Given the description of an element on the screen output the (x, y) to click on. 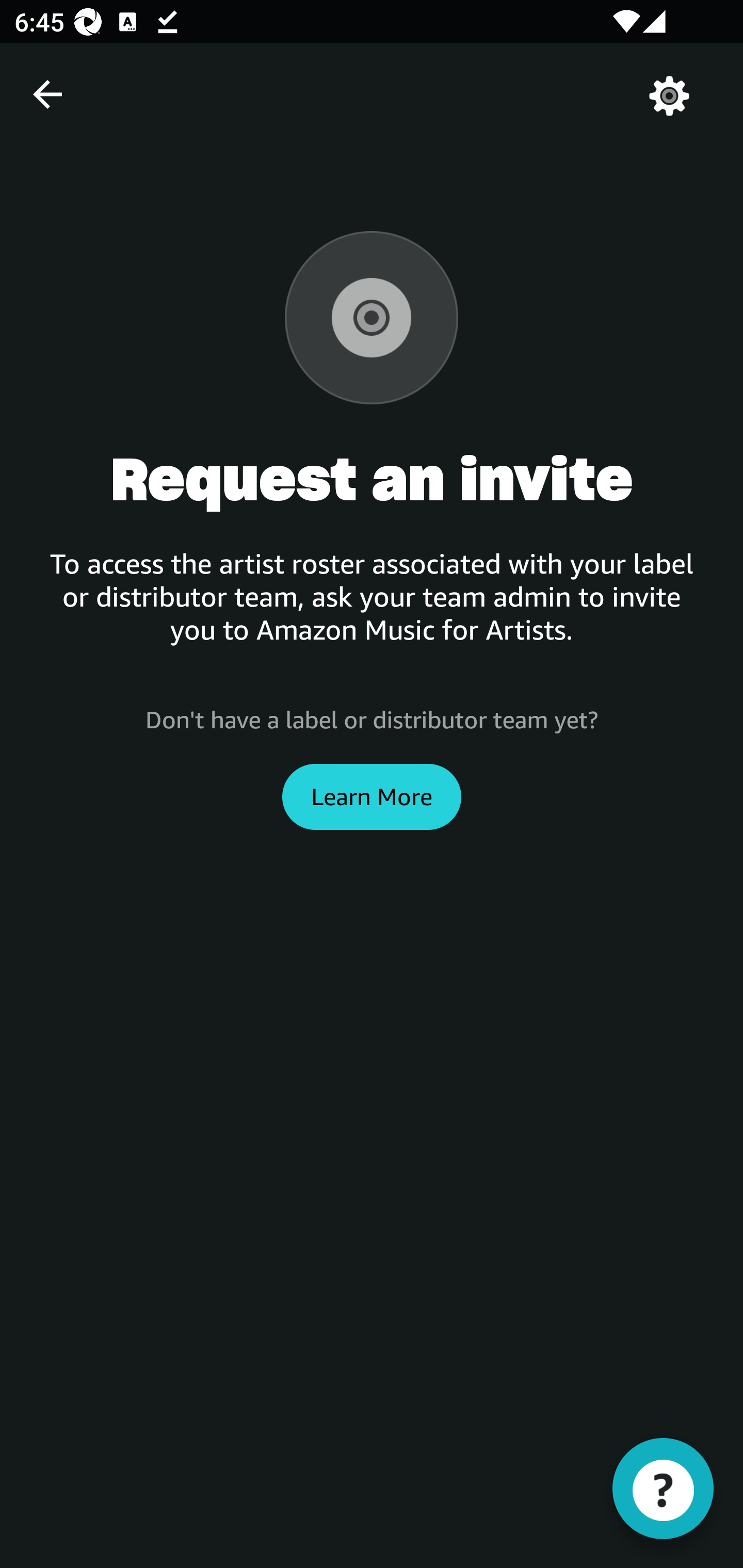
Learn more button Learn More (371, 796)
